Given the description of an element on the screen output the (x, y) to click on. 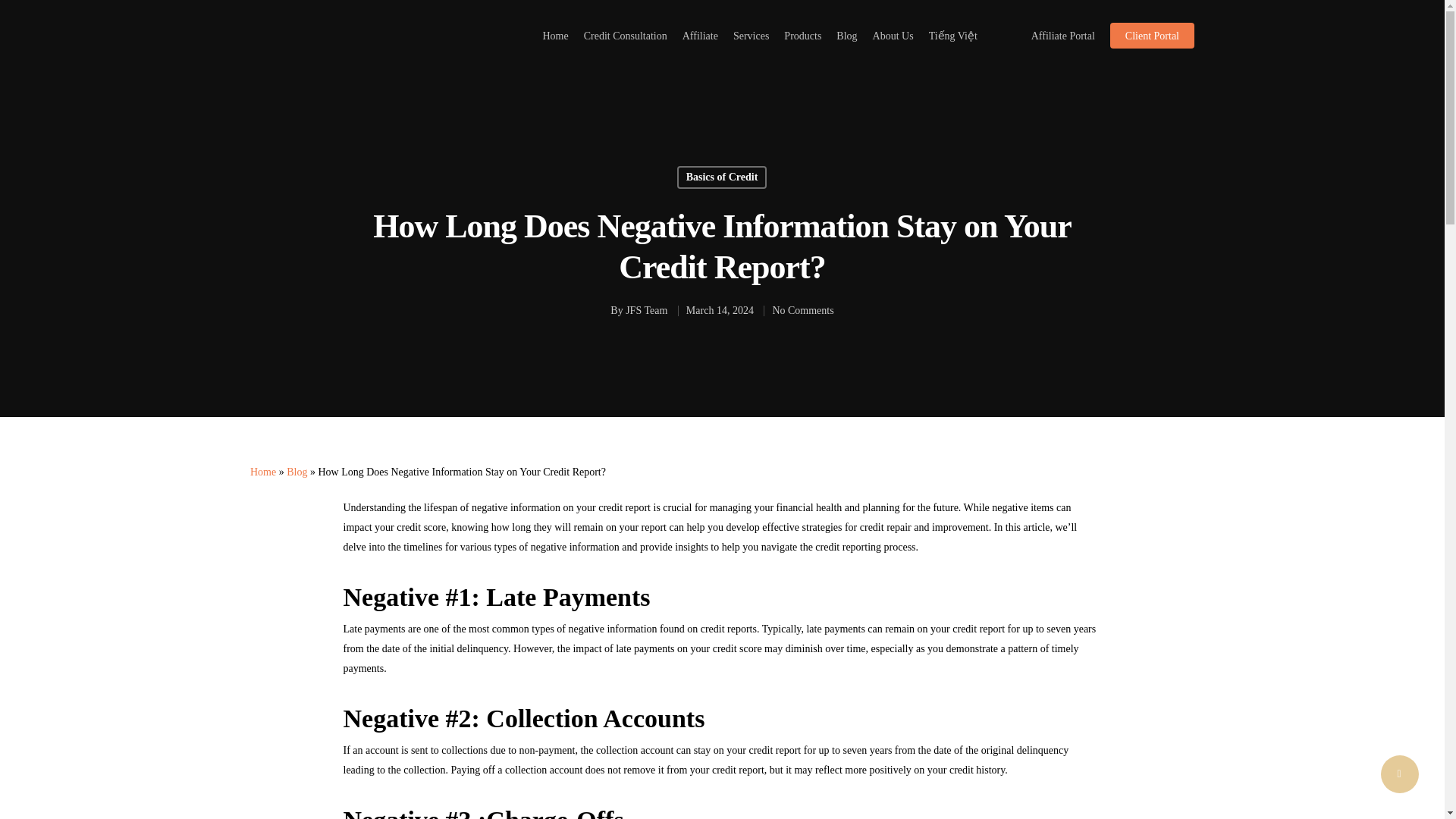
JFS Team (646, 310)
Affiliate (699, 34)
Home (263, 471)
Affiliate Portal (1062, 34)
About Us (893, 34)
Products (802, 34)
Services (750, 34)
Credit Consultation (624, 34)
Client Portal (1151, 34)
Blog (846, 34)
